Given the description of an element on the screen output the (x, y) to click on. 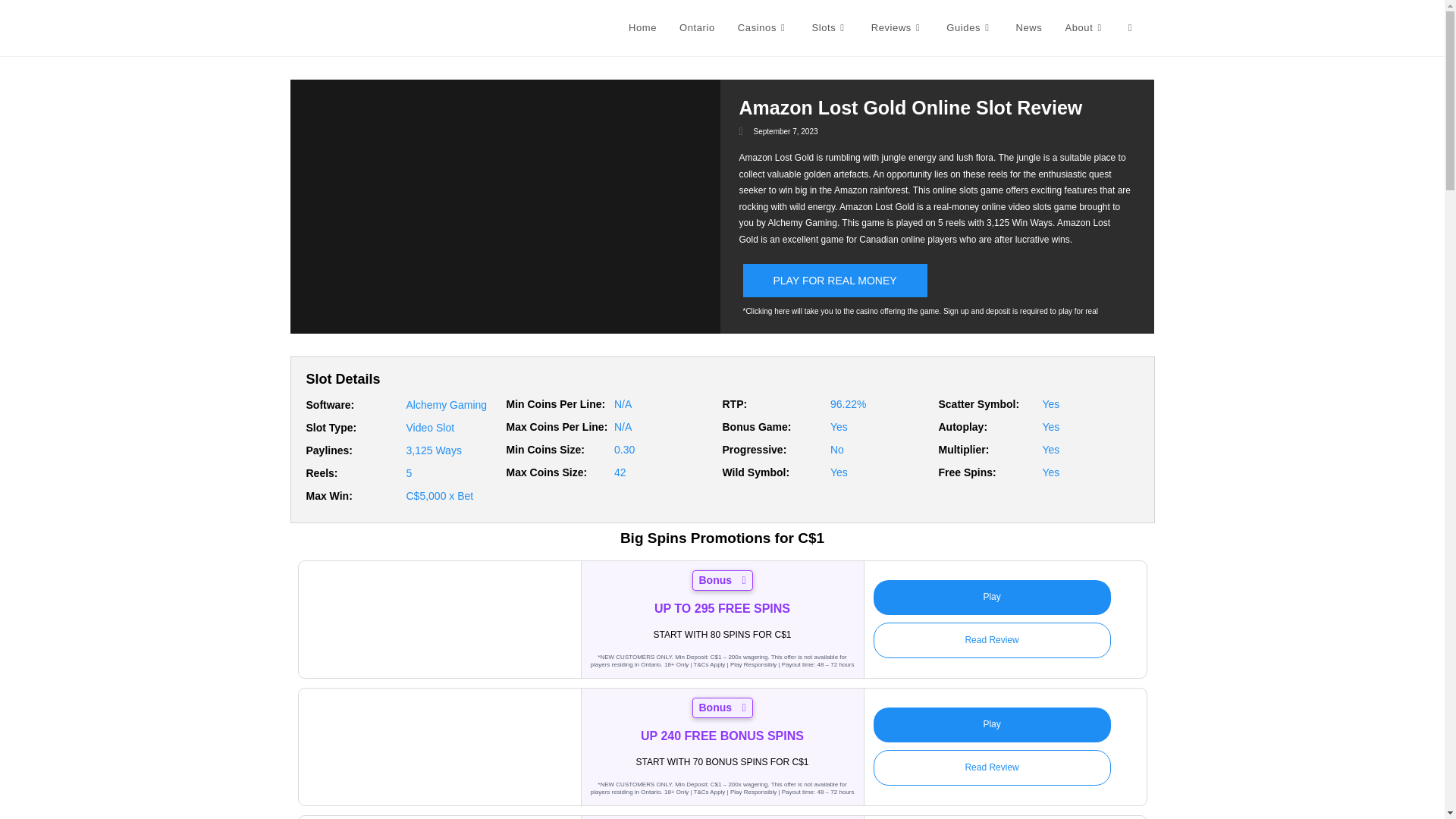
Slots (829, 28)
Guides (969, 28)
Home (642, 28)
Ontario (697, 28)
About (1084, 28)
Casinos (763, 28)
Reviews (898, 28)
